Given the description of an element on the screen output the (x, y) to click on. 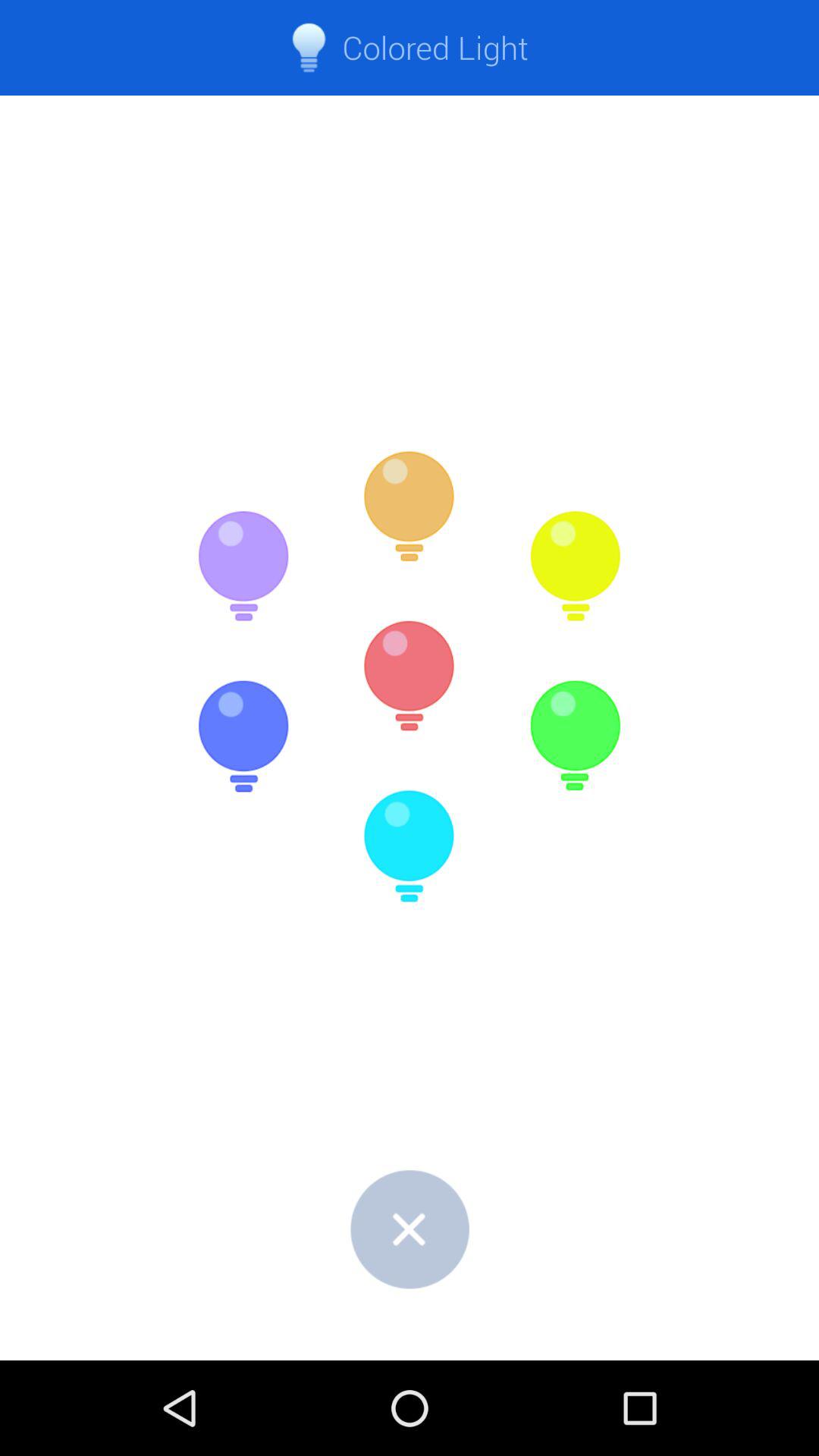
select yellow balloon (574, 566)
